Given the description of an element on the screen output the (x, y) to click on. 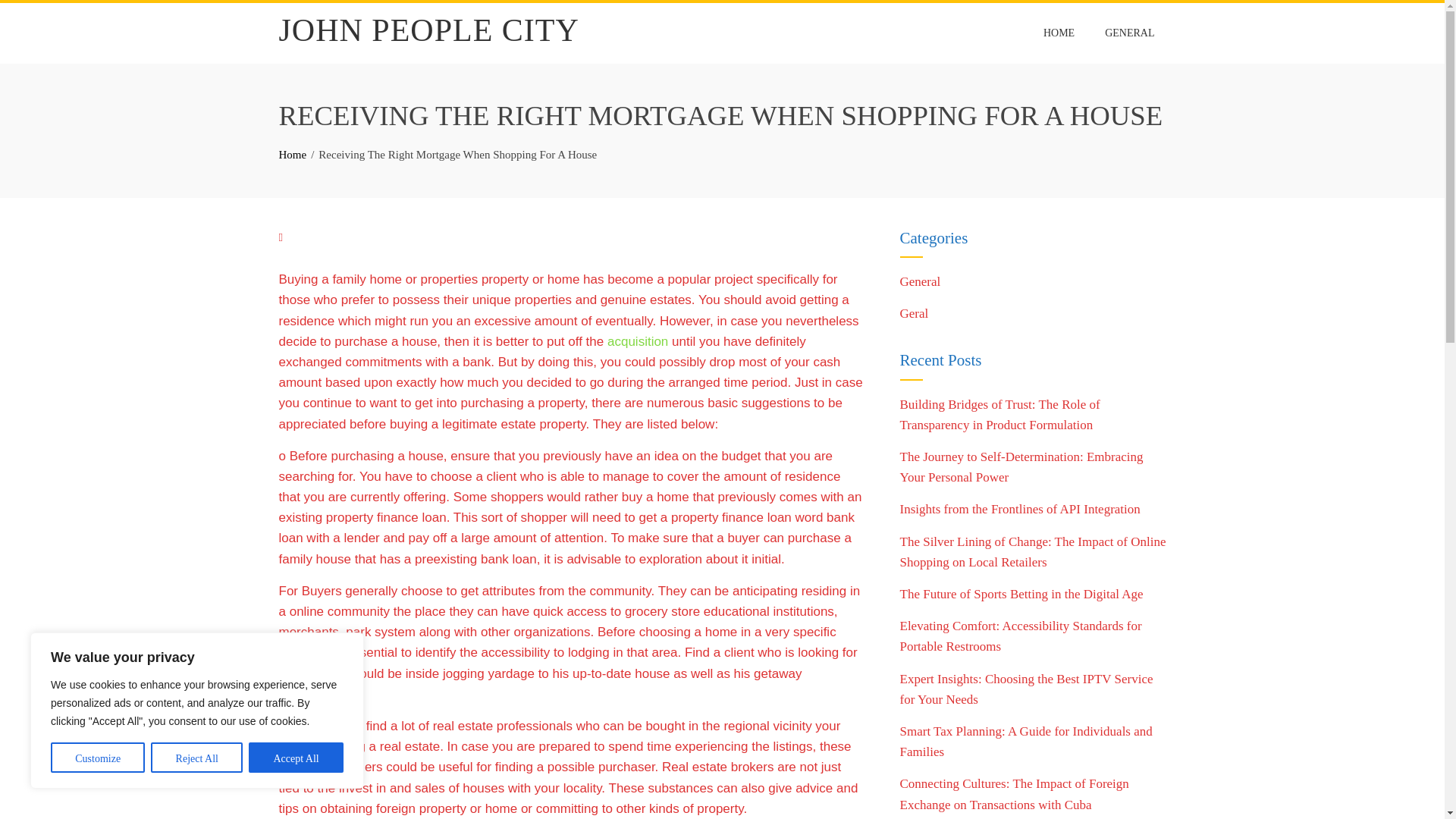
GENERAL (1129, 32)
acquisition (637, 341)
Customize (97, 757)
Reject All (197, 757)
Accept All (295, 757)
HOME (1059, 32)
